Given the description of an element on the screen output the (x, y) to click on. 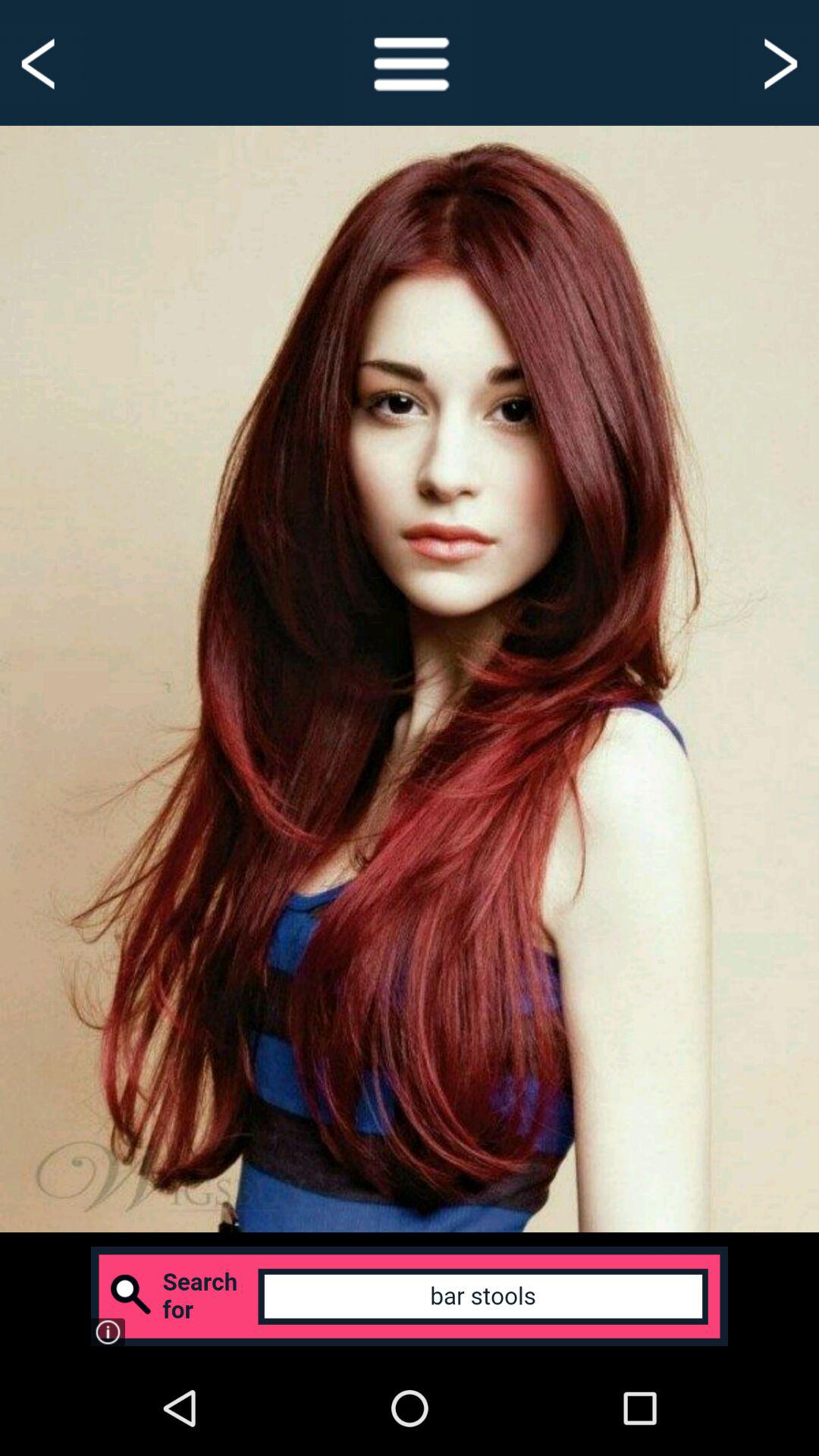
menu button (409, 62)
